Given the description of an element on the screen output the (x, y) to click on. 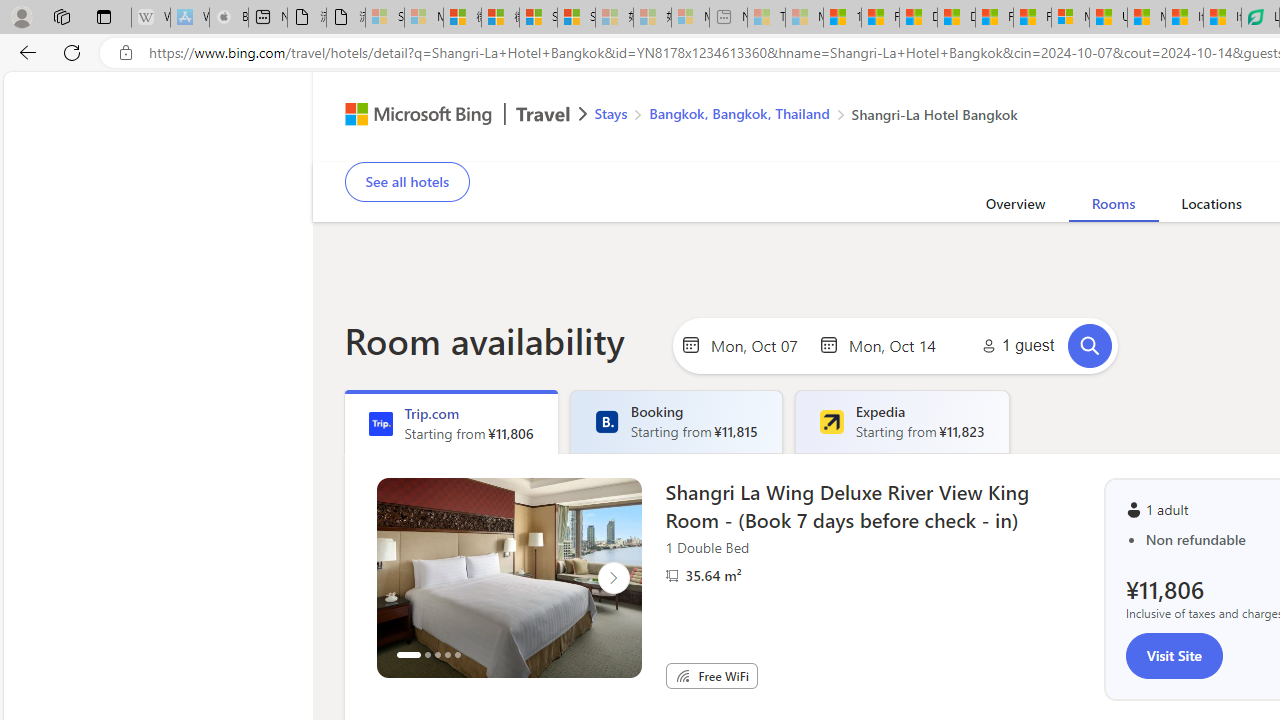
Rooms (1112, 207)
TripDotCom (380, 423)
Sign in to your Microsoft account - Sleeping (385, 17)
Food and Drink - MSN (879, 17)
Top Stories - MSN - Sleeping (765, 17)
Visit Site (1173, 655)
Microsoft account | Account Checkup - Sleeping (690, 17)
Marine life - MSN - Sleeping (804, 17)
Bangkok, Bangkok, Thailand (738, 112)
Valet parking (1008, 148)
